Given the description of an element on the screen output the (x, y) to click on. 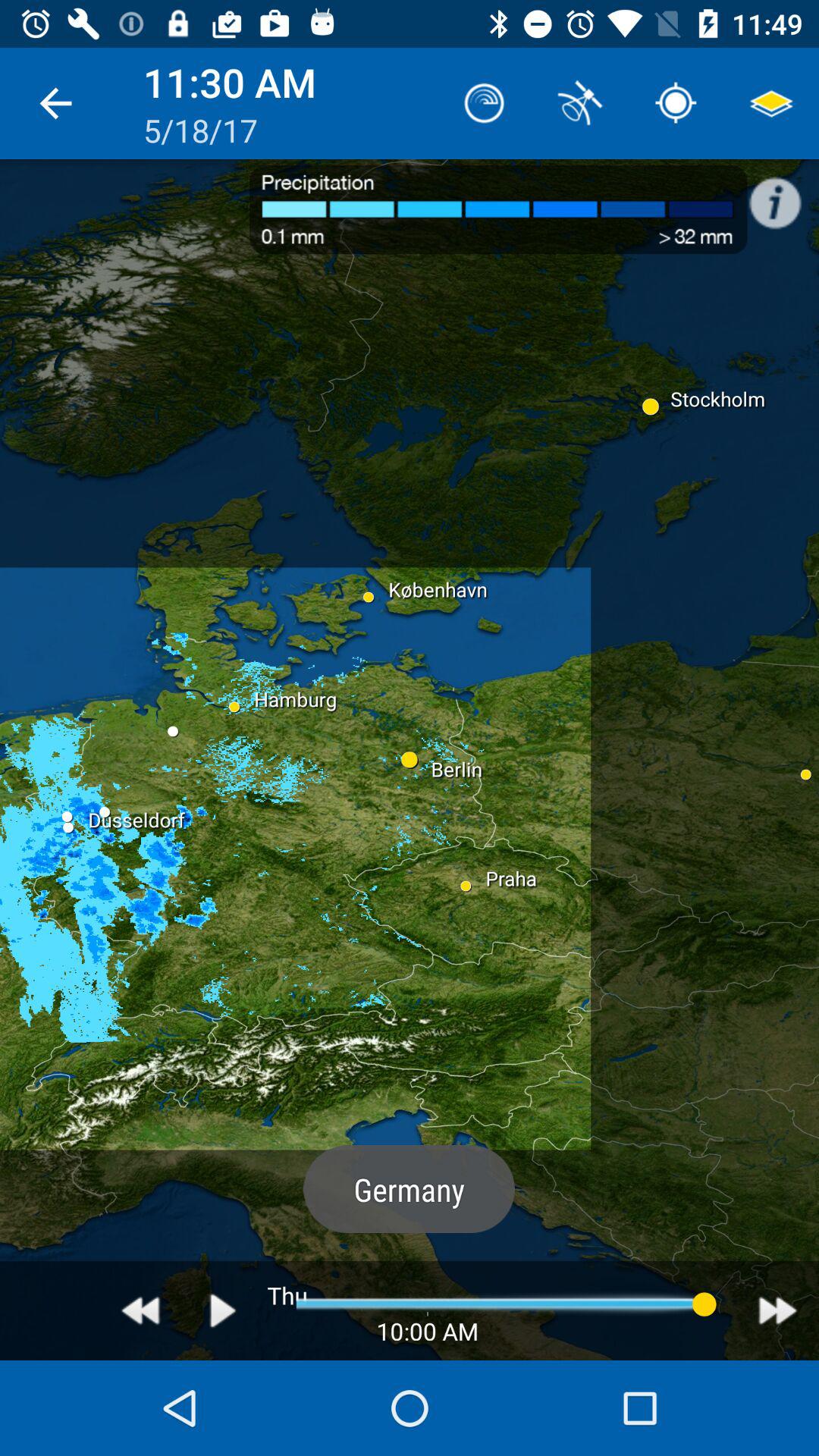
click icon to the right of 11:30 am icon (484, 103)
